Given the description of an element on the screen output the (x, y) to click on. 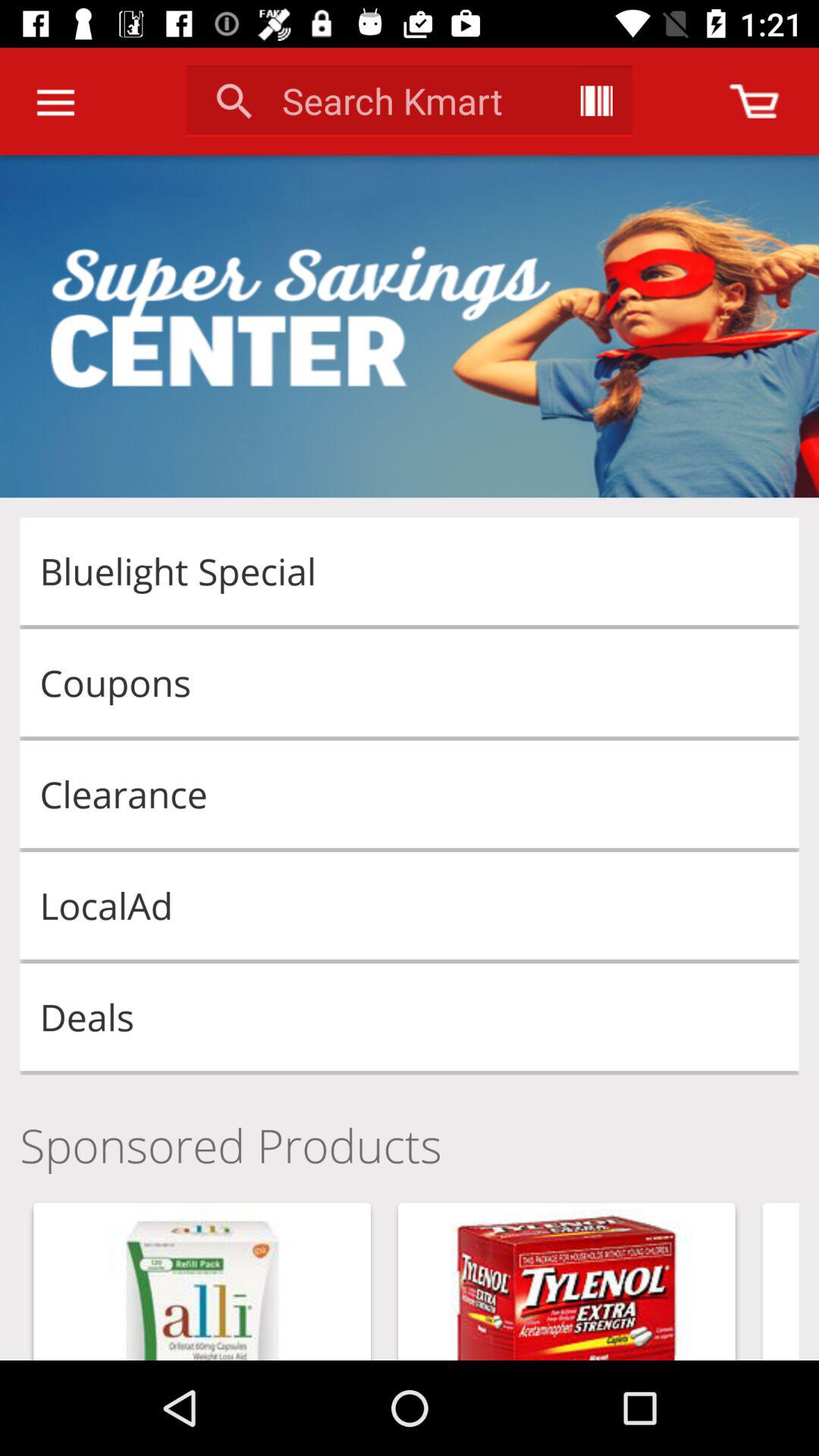
add to cart option (754, 101)
